Given the description of an element on the screen output the (x, y) to click on. 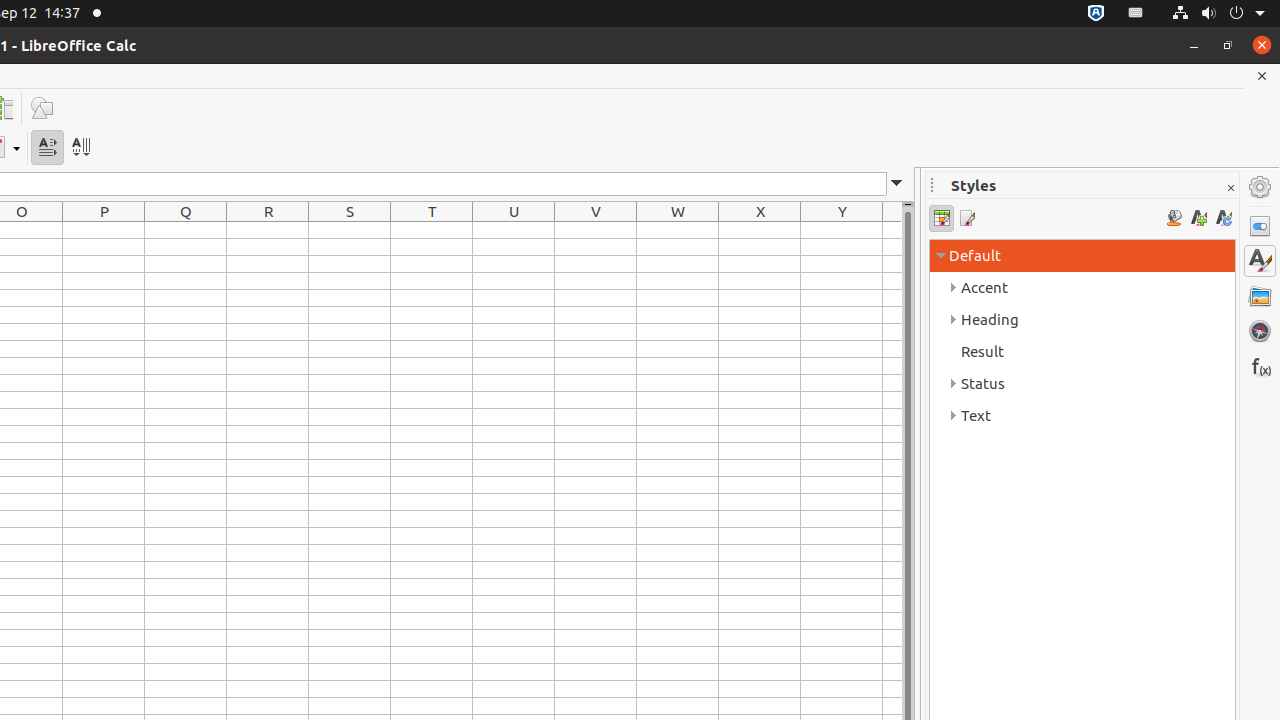
Text direction from top to bottom Element type: toggle-button (80, 147)
W1 Element type: table-cell (678, 230)
Expand Formula Bar Element type: push-button (897, 183)
Properties Element type: radio-button (1260, 226)
X1 Element type: table-cell (760, 230)
